Given the description of an element on the screen output the (x, y) to click on. 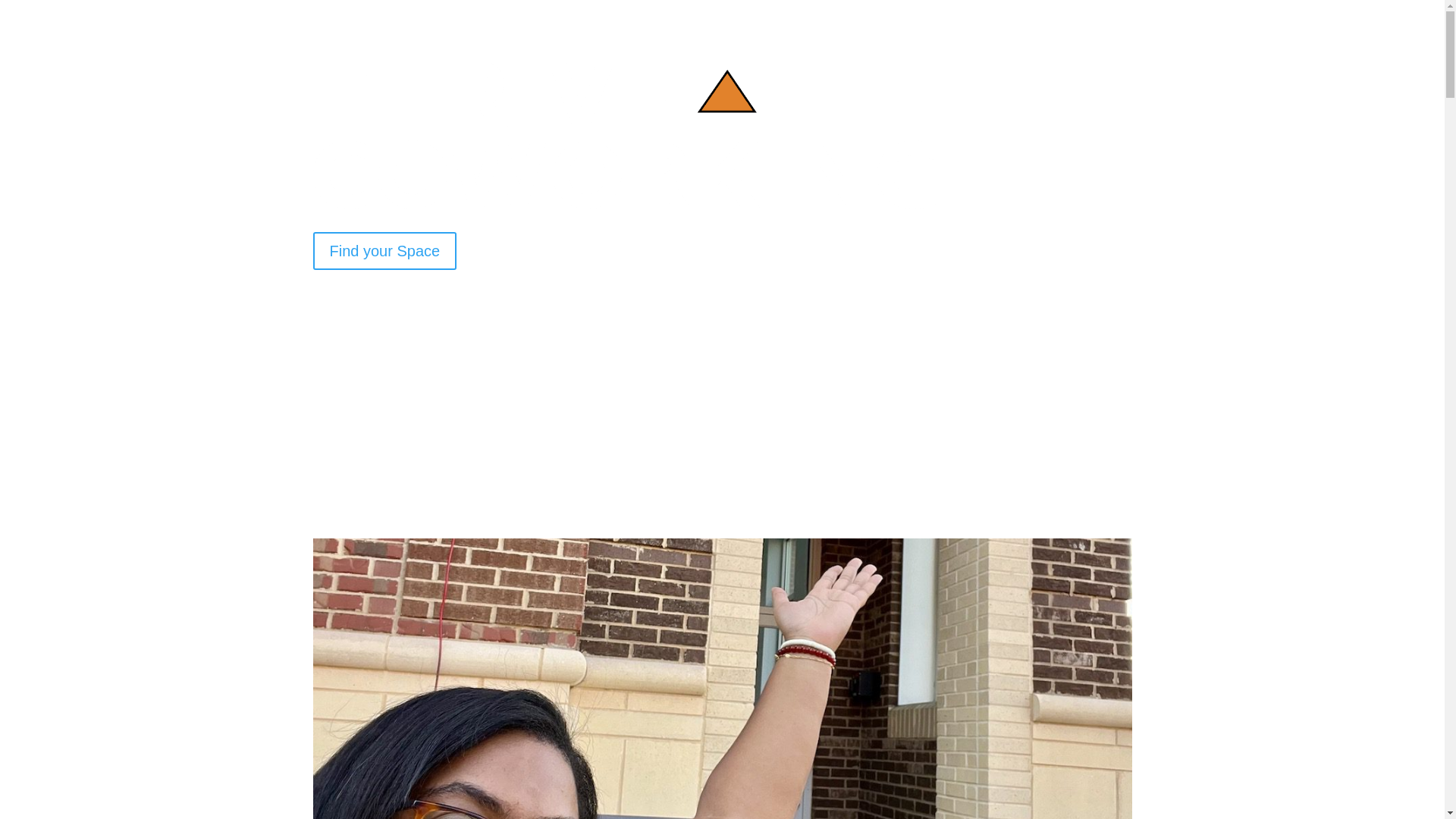
Find your Space (385, 250)
